Given the description of an element on the screen output the (x, y) to click on. 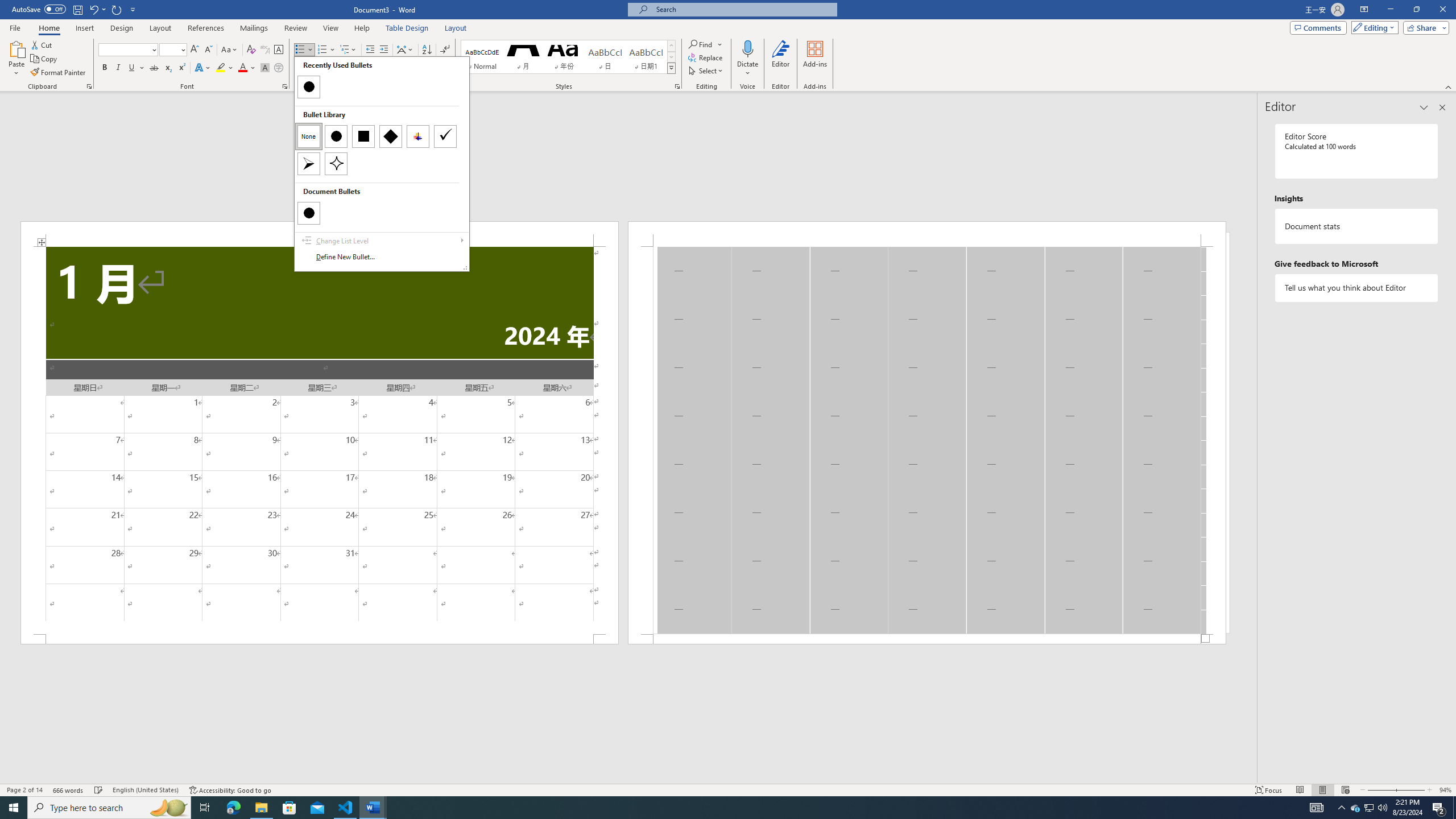
Font (124, 49)
Share (1423, 27)
Undo Apply Quick Style (96, 9)
Asian Layout (405, 49)
Copy (45, 58)
&Bullets (382, 163)
Web Layout (1344, 790)
Clear Formatting (250, 49)
Text Highlight Color (224, 67)
Comments (1318, 27)
Show desktop (1454, 807)
Styles (670, 67)
Running applications (717, 807)
File Explorer - 1 running window (261, 807)
Find (705, 44)
